Given the description of an element on the screen output the (x, y) to click on. 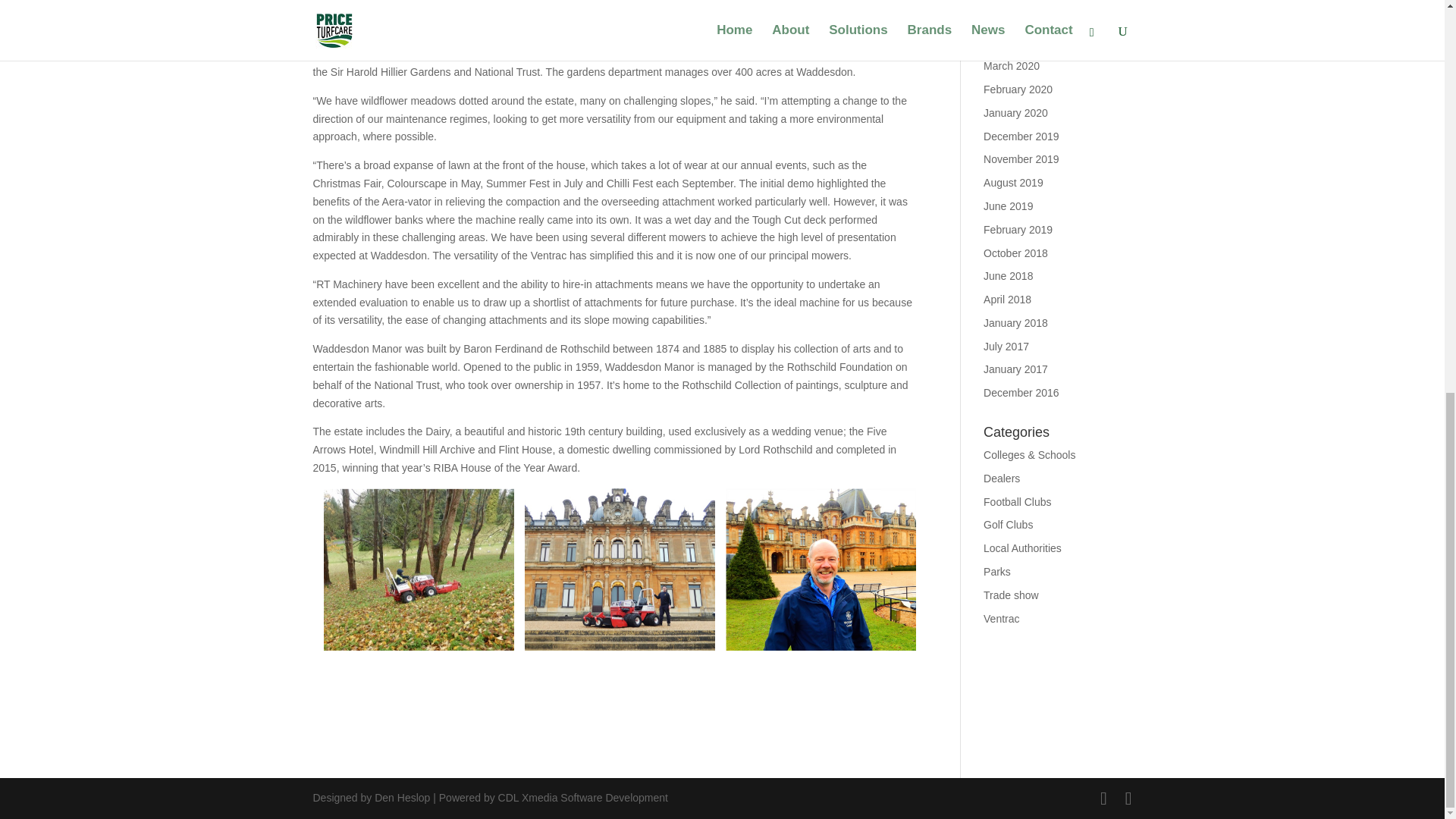
June 2020 (1008, 42)
March 2020 (1011, 65)
February 2020 (1018, 89)
November 2020 (1021, 1)
January 2020 (1016, 112)
July 2020 (1006, 19)
